Given the description of an element on the screen output the (x, y) to click on. 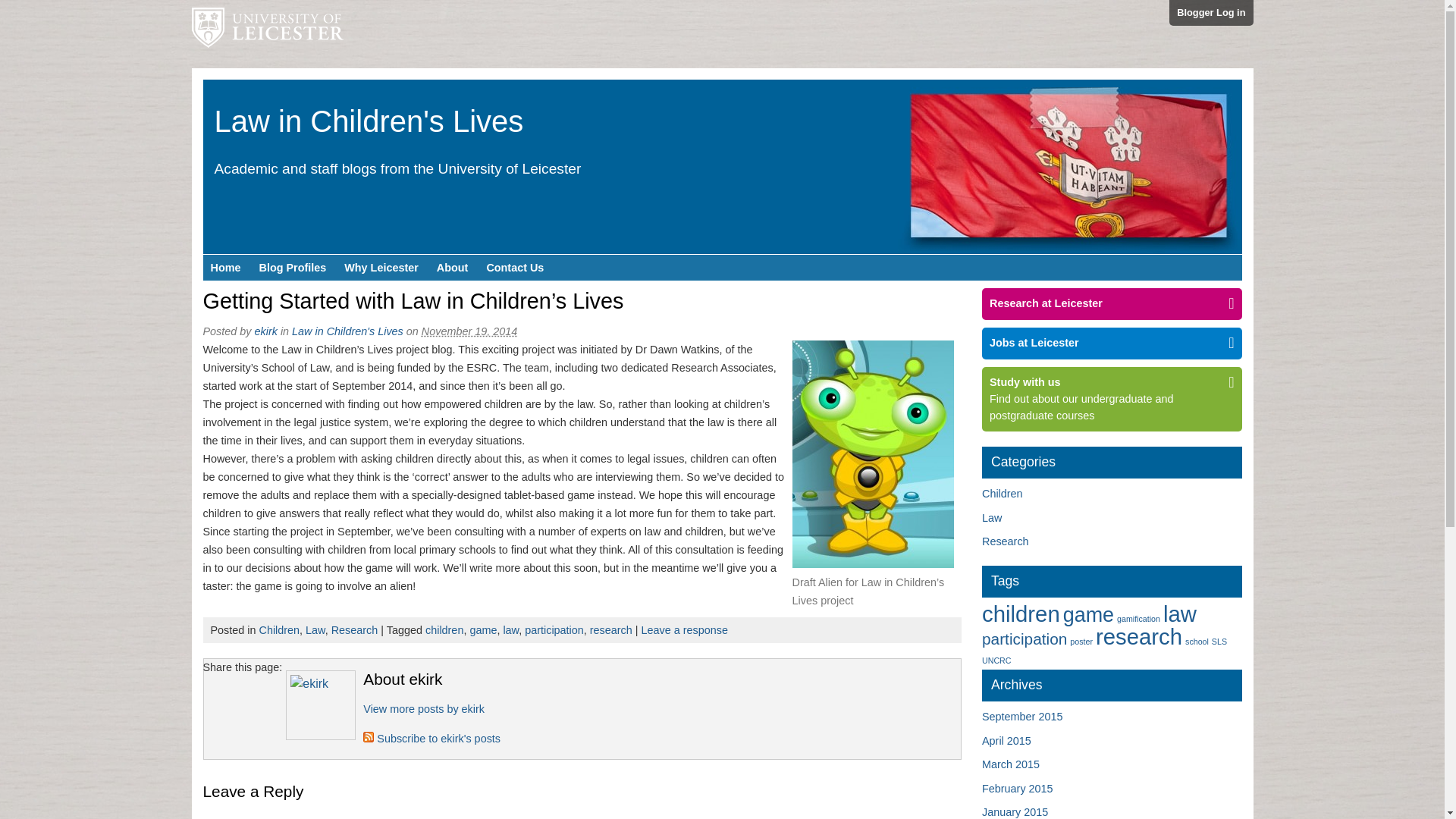
ekirk (423, 708)
University of Leicester (266, 33)
Home (225, 267)
participation (553, 630)
Jobs at Leicester (1112, 342)
Why Leicester (381, 267)
Law in Children's Lives (368, 121)
Research (354, 630)
law (510, 630)
Law (314, 630)
children (444, 630)
game (482, 630)
View more posts by ekirk (423, 708)
Children (279, 630)
Children (1002, 493)
